Given the description of an element on the screen output the (x, y) to click on. 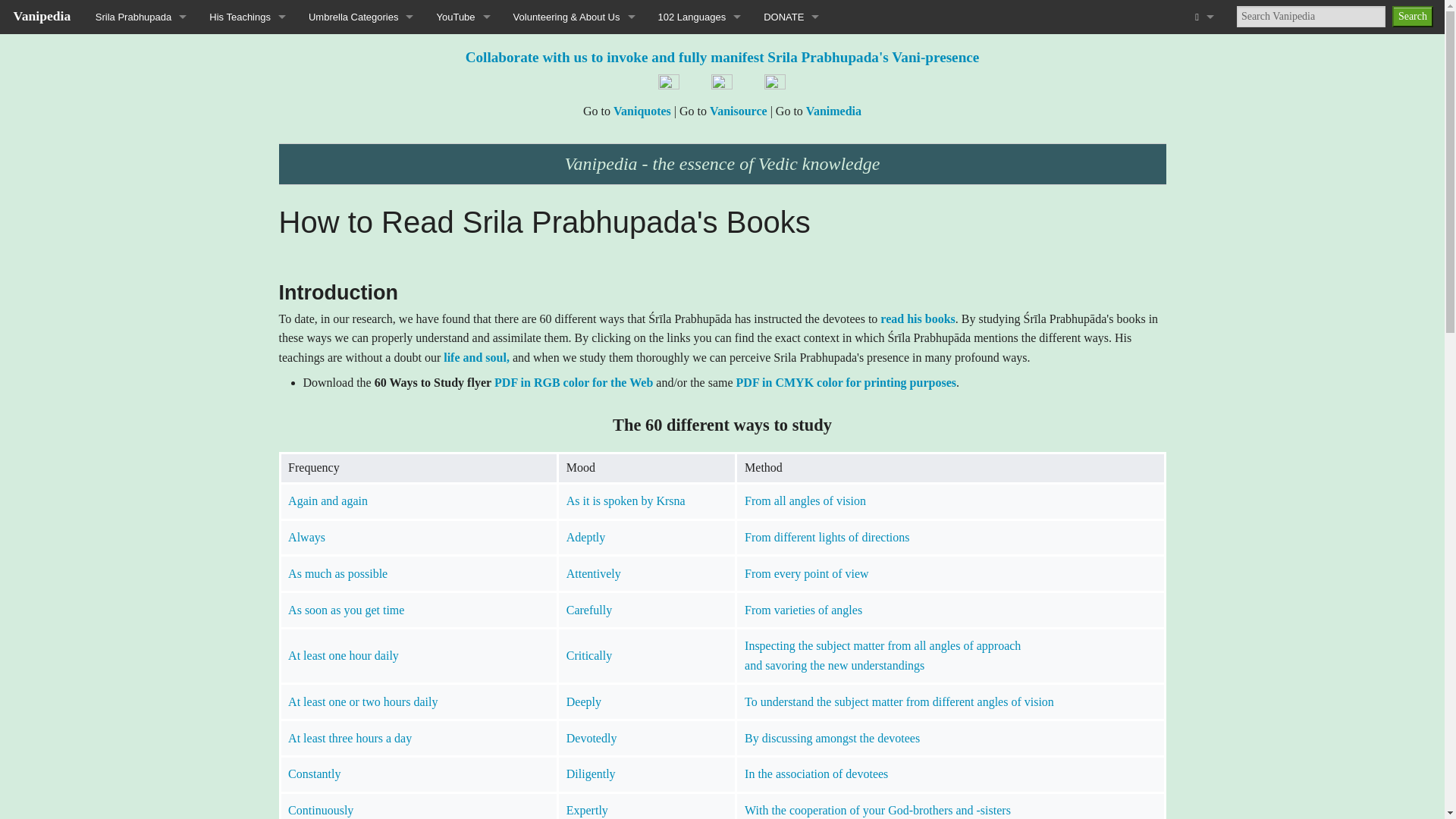
vaniquotes:Main Page (641, 110)
vanisource:Main Page (738, 110)
Vanipedia (42, 15)
Srila Prabhupada (141, 17)
vaniquotes:60 ways to study Srila Prabhupada's books (917, 318)
60 ways large A5 CMYK for print.pdf (846, 382)
vanimedia:Main Page (833, 110)
60 ways large A5 RGB for Web.pdf (573, 382)
Search (1411, 16)
